Given the description of an element on the screen output the (x, y) to click on. 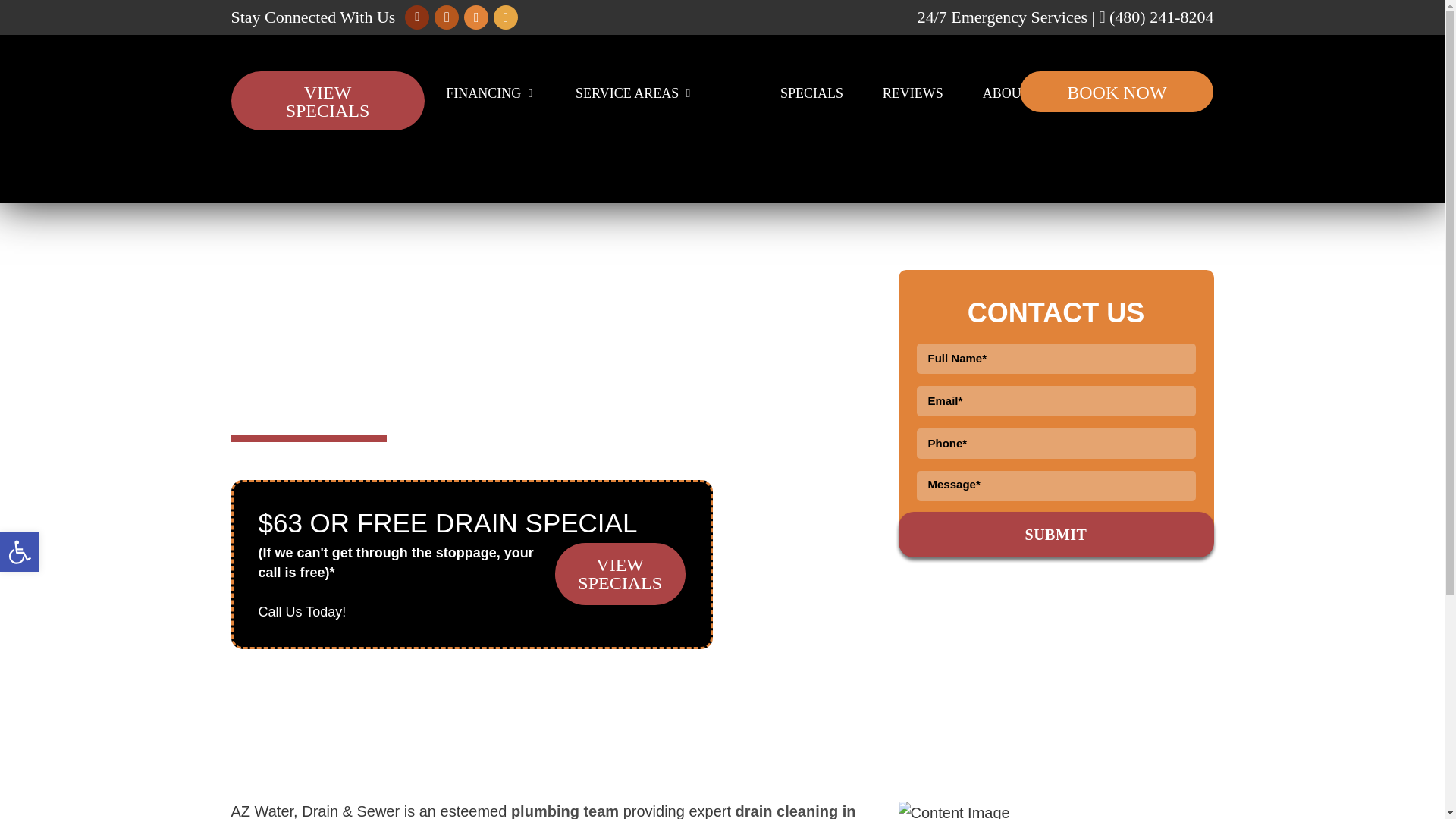
Google (416, 16)
Accessibility Tools (19, 551)
SERVICE AREAS (634, 93)
FINANCING (490, 93)
HOME (260, 93)
BOOK NOW (1116, 91)
Submit (1056, 534)
PLUMBING (363, 93)
Accessibility Tools (19, 551)
VIEW SPECIALS (326, 100)
Facebook (445, 16)
Instagram (505, 16)
Yelp (475, 16)
